Given the description of an element on the screen output the (x, y) to click on. 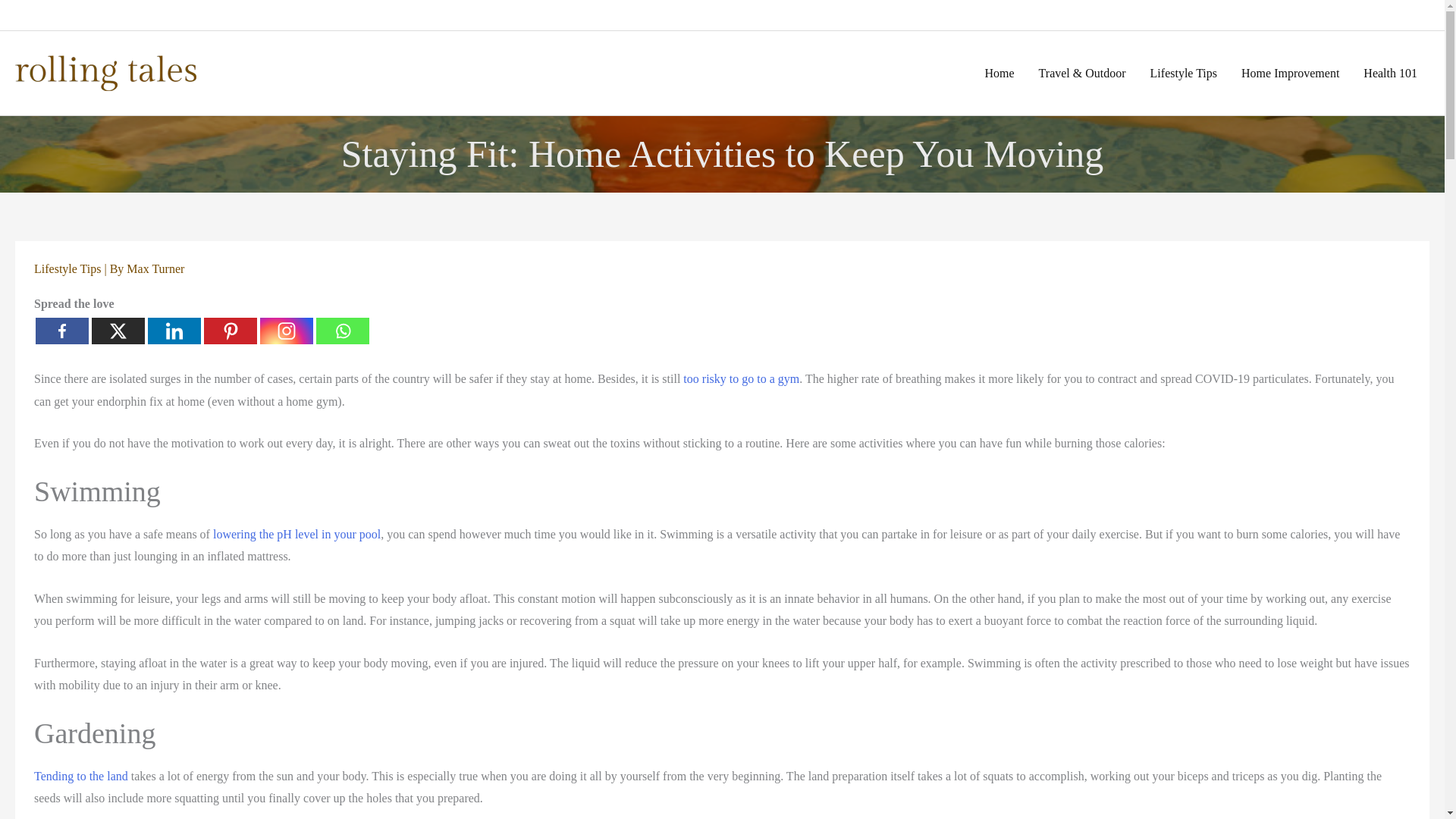
too risky to go to a gym (740, 378)
Whatsapp (342, 330)
View all posts by Max Turner (155, 268)
Home (999, 72)
Home Improvement (1289, 72)
Max Turner (155, 268)
Linkedin (174, 330)
Lifestyle Tips (66, 268)
Facebook (61, 330)
Health 101 (1390, 72)
Tending to the land (80, 775)
X (117, 330)
Pinterest (230, 330)
Contact Us (47, 15)
lowering the pH level in your pool (296, 533)
